Given the description of an element on the screen output the (x, y) to click on. 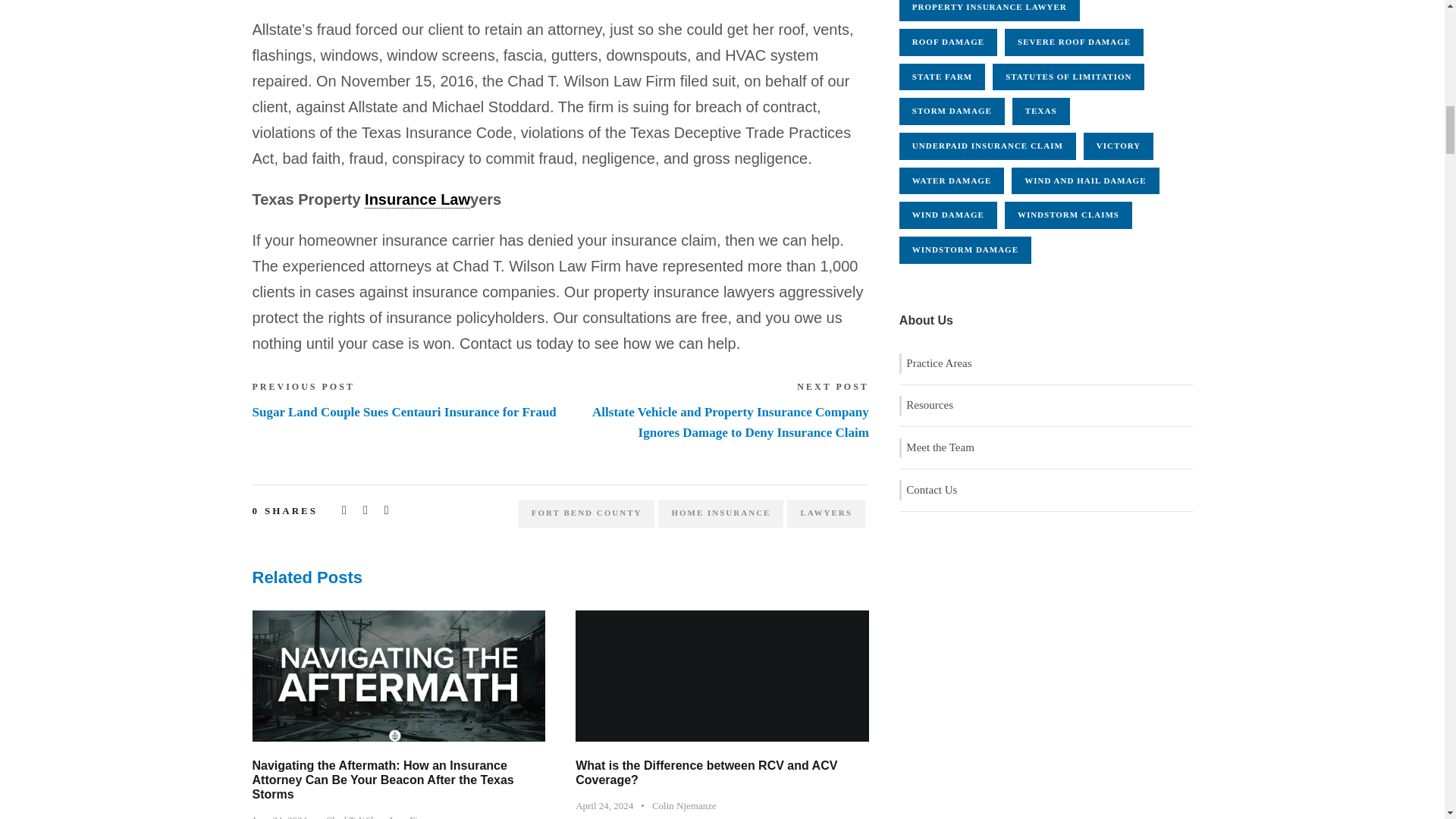
RCV-vs.-ACV (722, 675)
Posts by Chad T. Wilson Law Firm (377, 816)
Posts by Colin Njemanze (684, 805)
Navigating the Aftermath Thumbnail (397, 674)
